Given the description of an element on the screen output the (x, y) to click on. 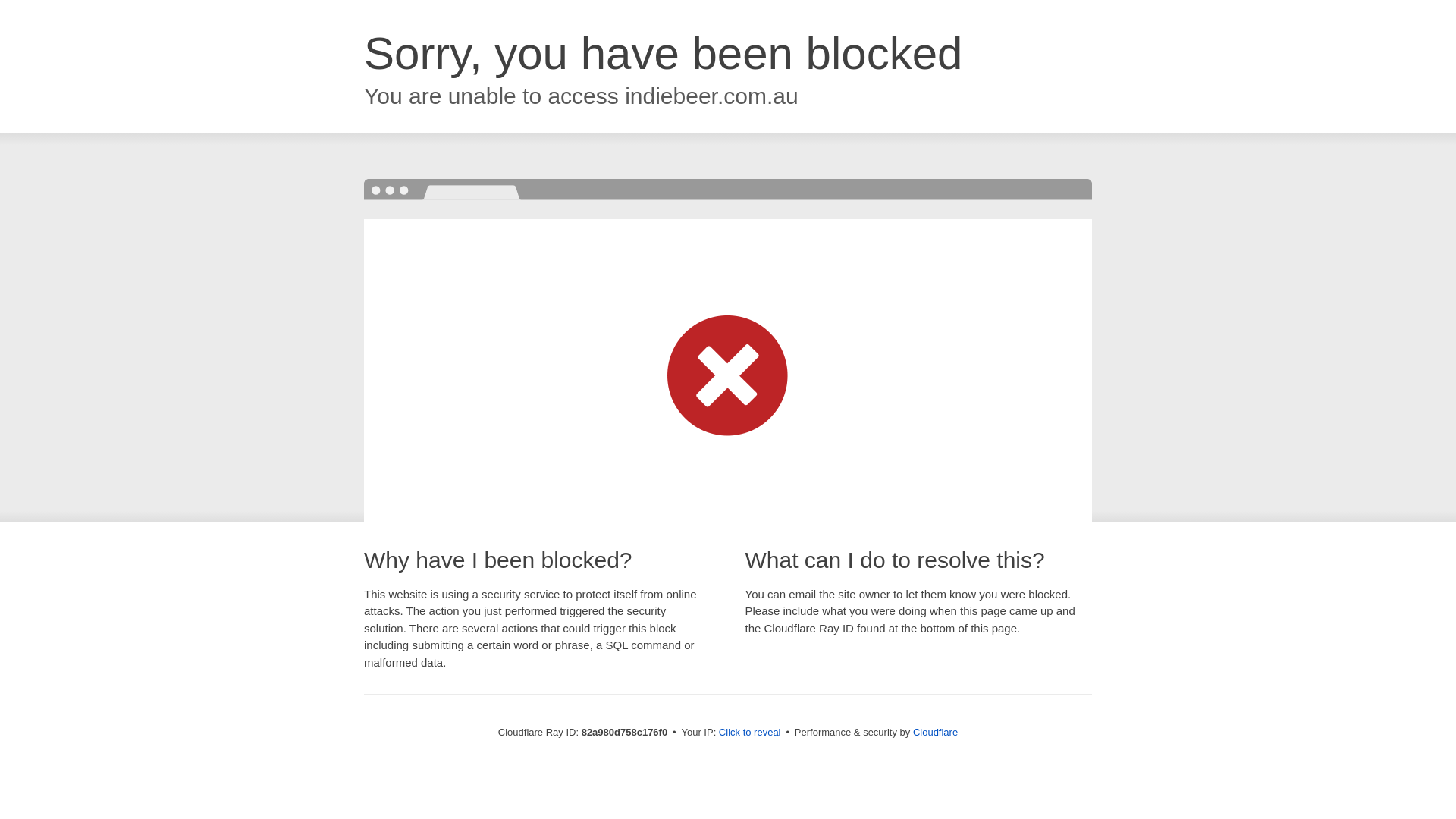
Cloudflare Element type: text (935, 731)
Click to reveal Element type: text (749, 732)
